Given the description of an element on the screen output the (x, y) to click on. 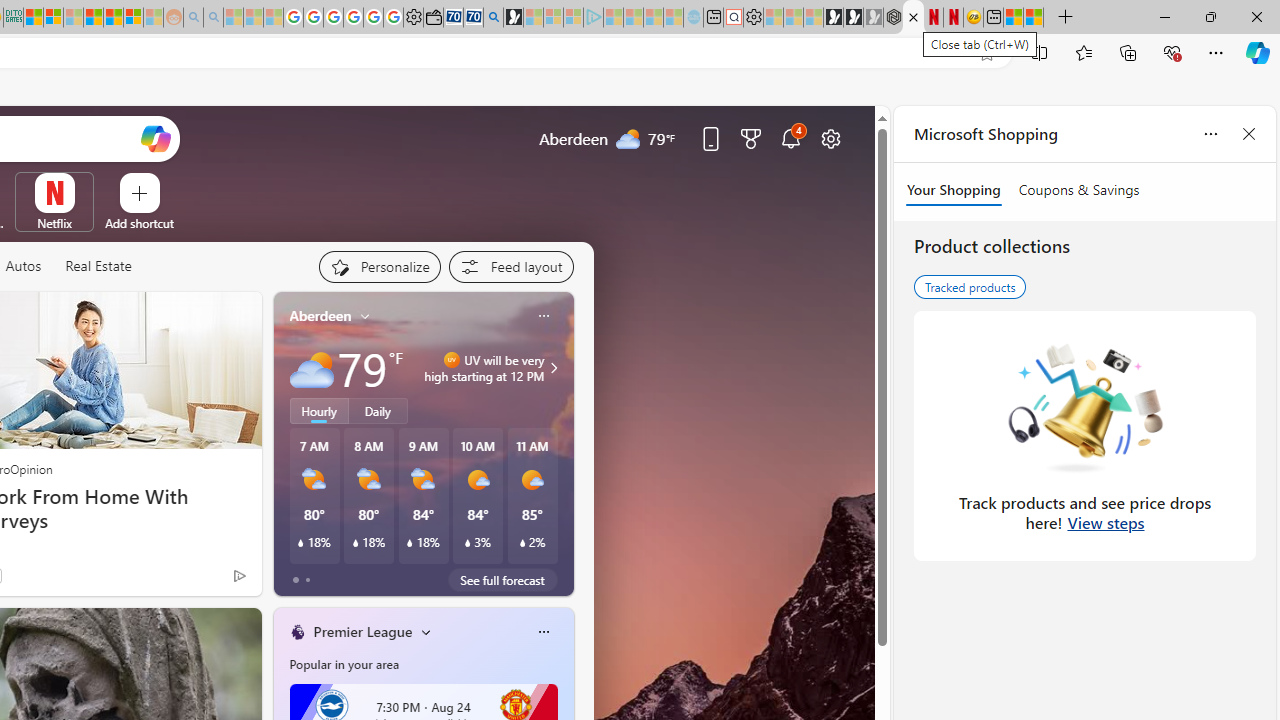
Kinda Frugal - MSN (112, 17)
